Given the description of an element on the screen output the (x, y) to click on. 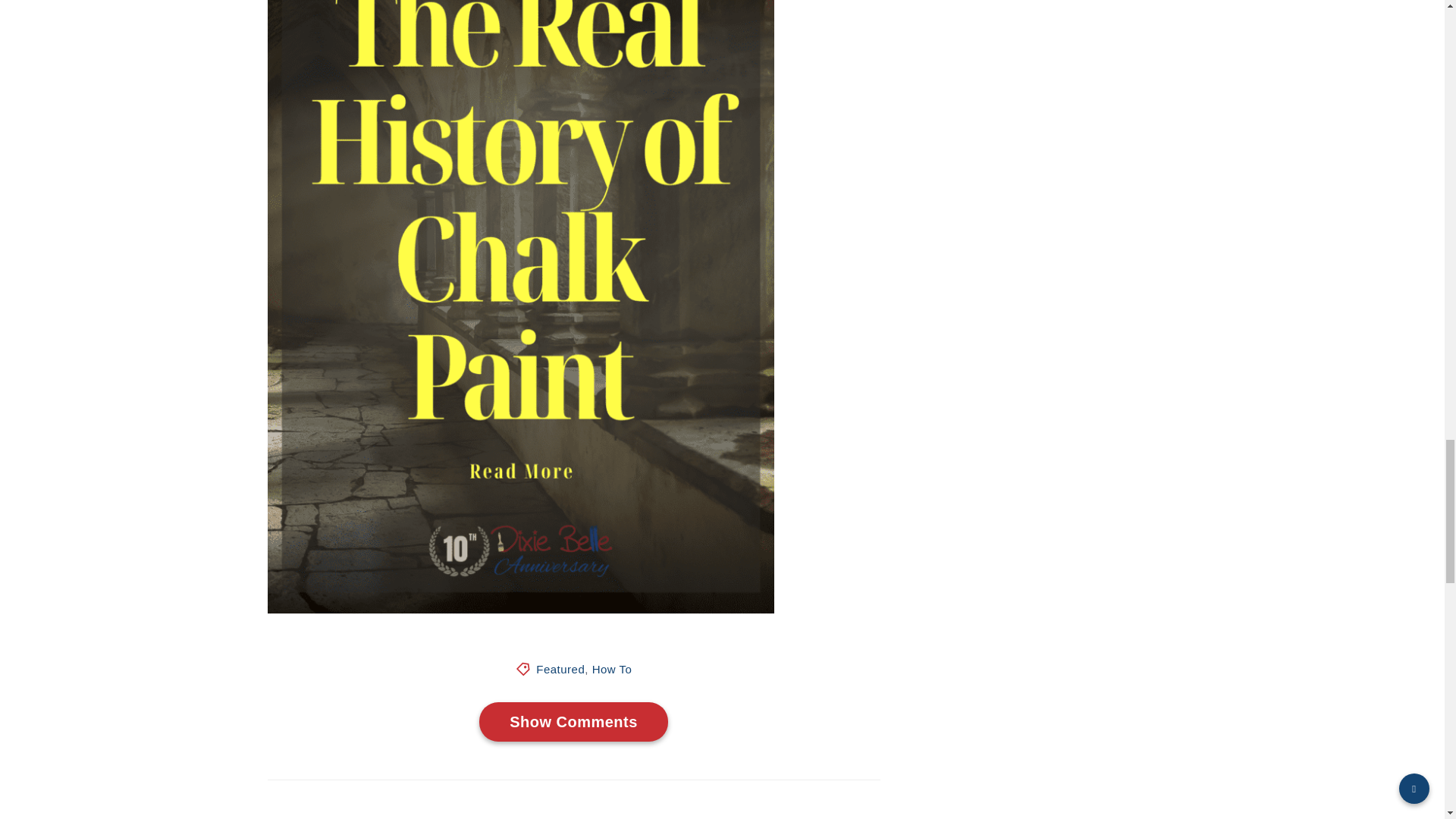
How To (611, 668)
Featured (560, 668)
Show Comments (573, 721)
